Given the description of an element on the screen output the (x, y) to click on. 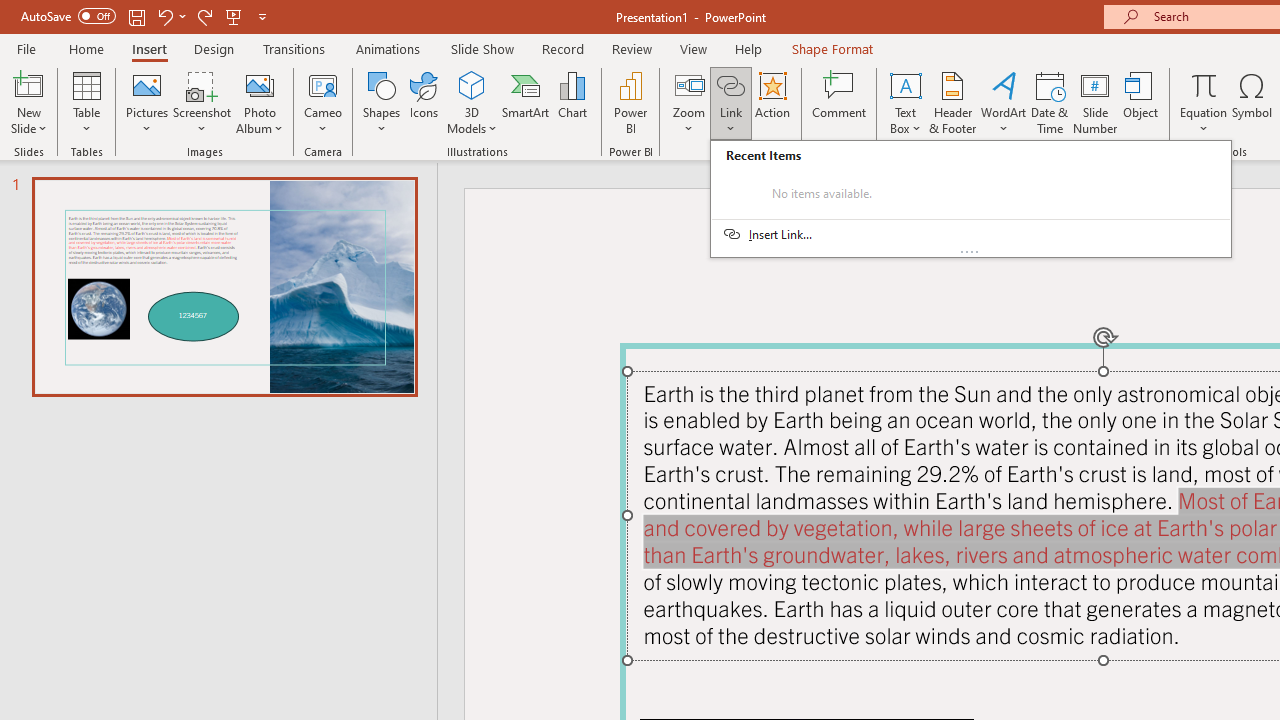
Screenshot (202, 102)
Slide Number (1095, 102)
Photo Album... (259, 102)
Icons (424, 102)
Power BI (630, 102)
Chart... (572, 102)
Symbol... (1252, 102)
Object... (1141, 102)
